Given the description of an element on the screen output the (x, y) to click on. 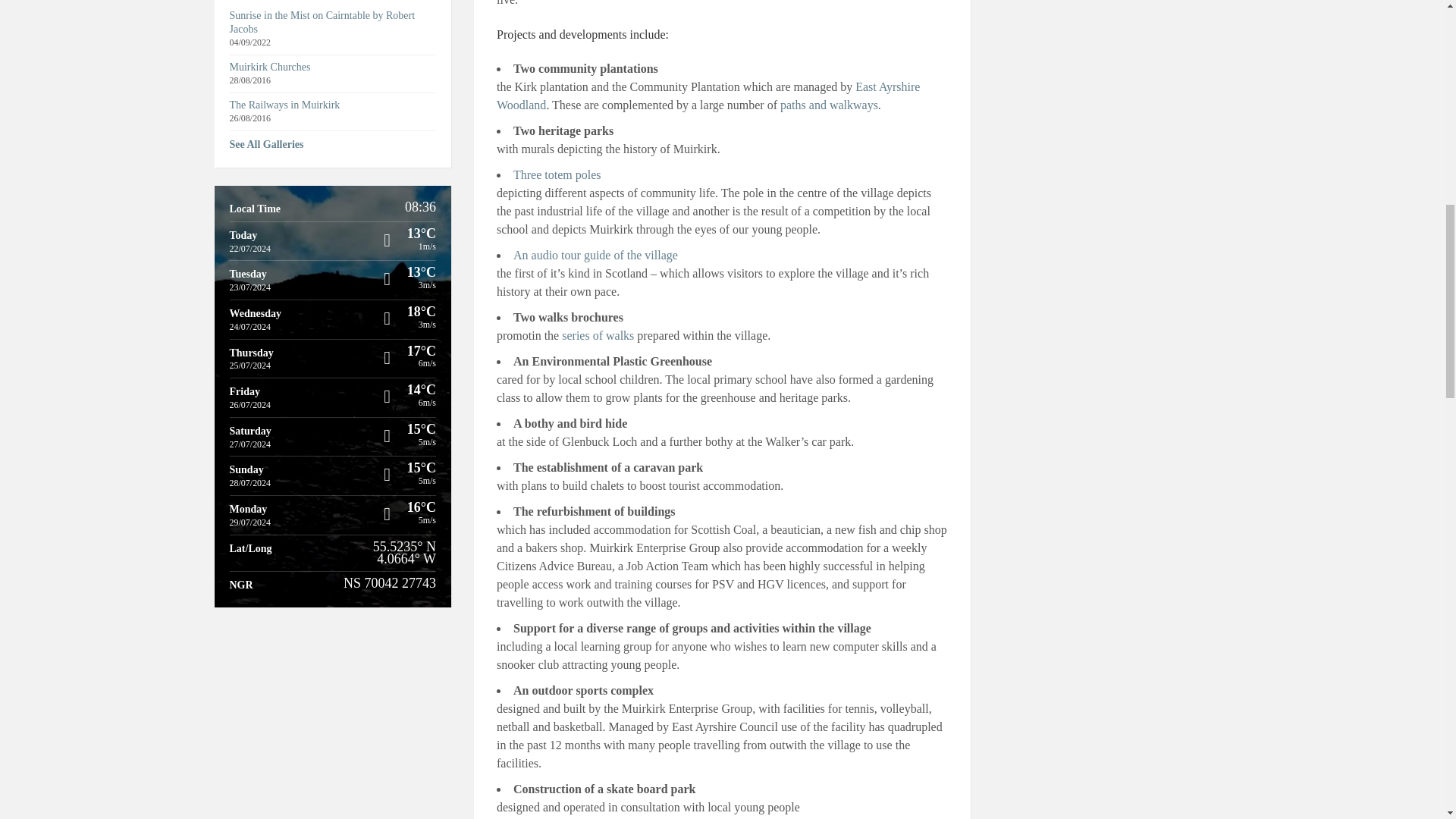
East Ayrshire Woodland (708, 95)
Temperature (388, 429)
Temperature (388, 350)
paths and walkways (828, 104)
Temperature (388, 311)
Temperature (388, 272)
Wind speed (388, 363)
Wind speed (388, 402)
An audio tour guide of the village (595, 254)
Wind speed (388, 441)
Temperature (388, 233)
Wind speed (388, 246)
Wind speed (388, 324)
Three totem poles (557, 174)
Wind speed (388, 285)
